Given the description of an element on the screen output the (x, y) to click on. 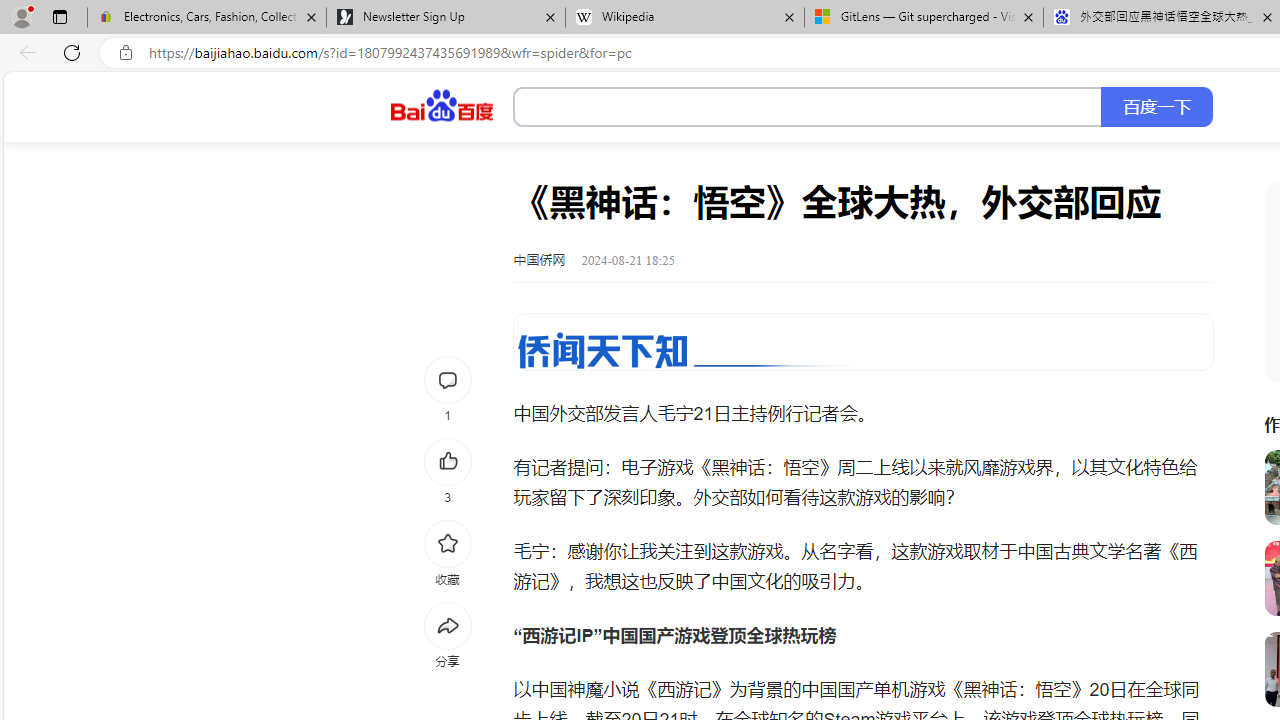
Class: _1g4Ex _1i_Oe (863, 342)
